Given the description of an element on the screen output the (x, y) to click on. 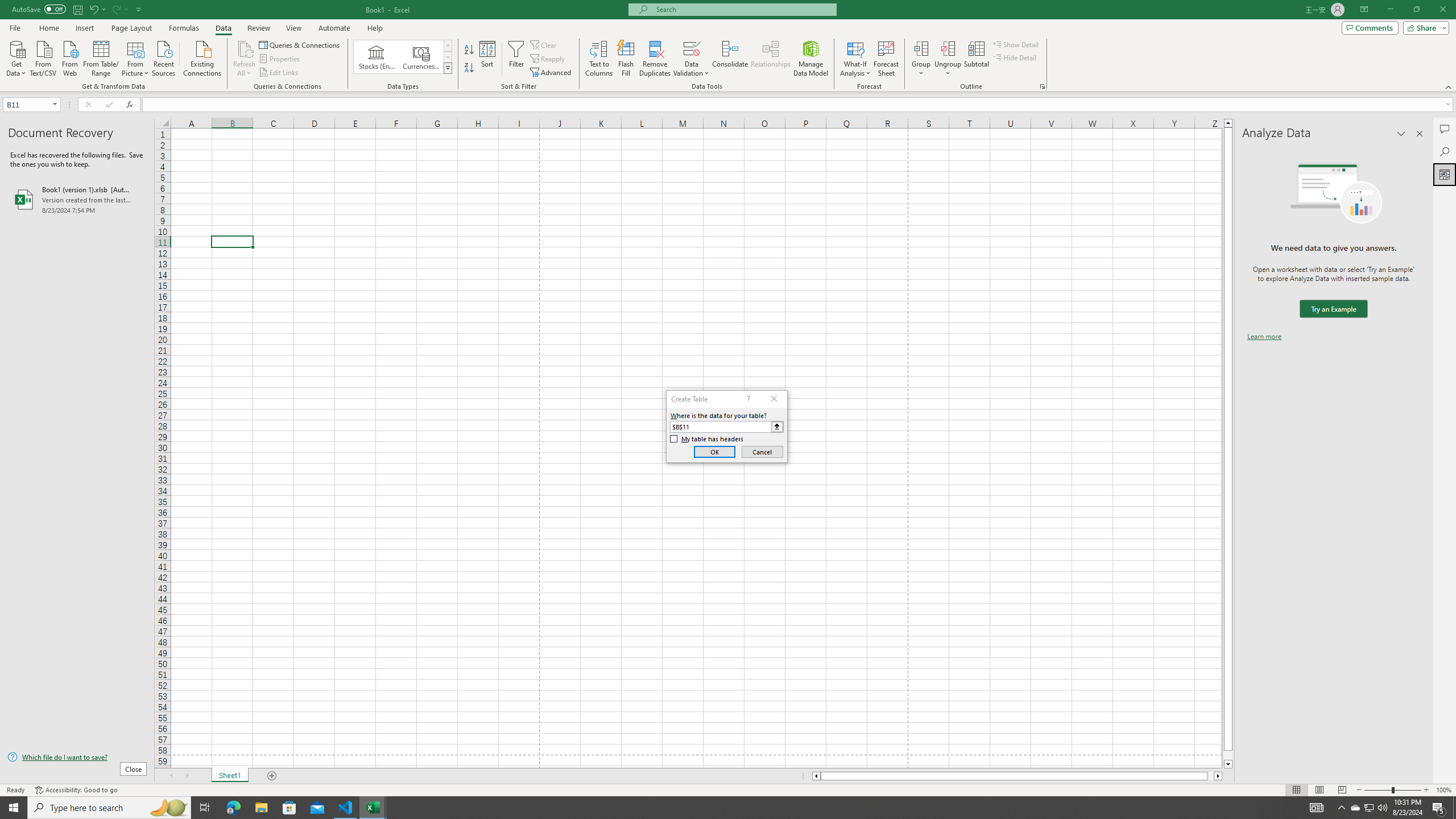
Close (1442, 9)
Ungroup... (947, 58)
Zoom (1392, 790)
Remove Duplicates (654, 58)
Name Box (30, 104)
Comments (1444, 128)
Zoom In (1426, 790)
Sort A to Z (469, 49)
Page Break Preview (1342, 790)
Task Pane Options (1400, 133)
File Tab (15, 27)
Class: NetUIImage (447, 68)
Group... (921, 58)
Sort Z to A (469, 67)
